Given the description of an element on the screen output the (x, y) to click on. 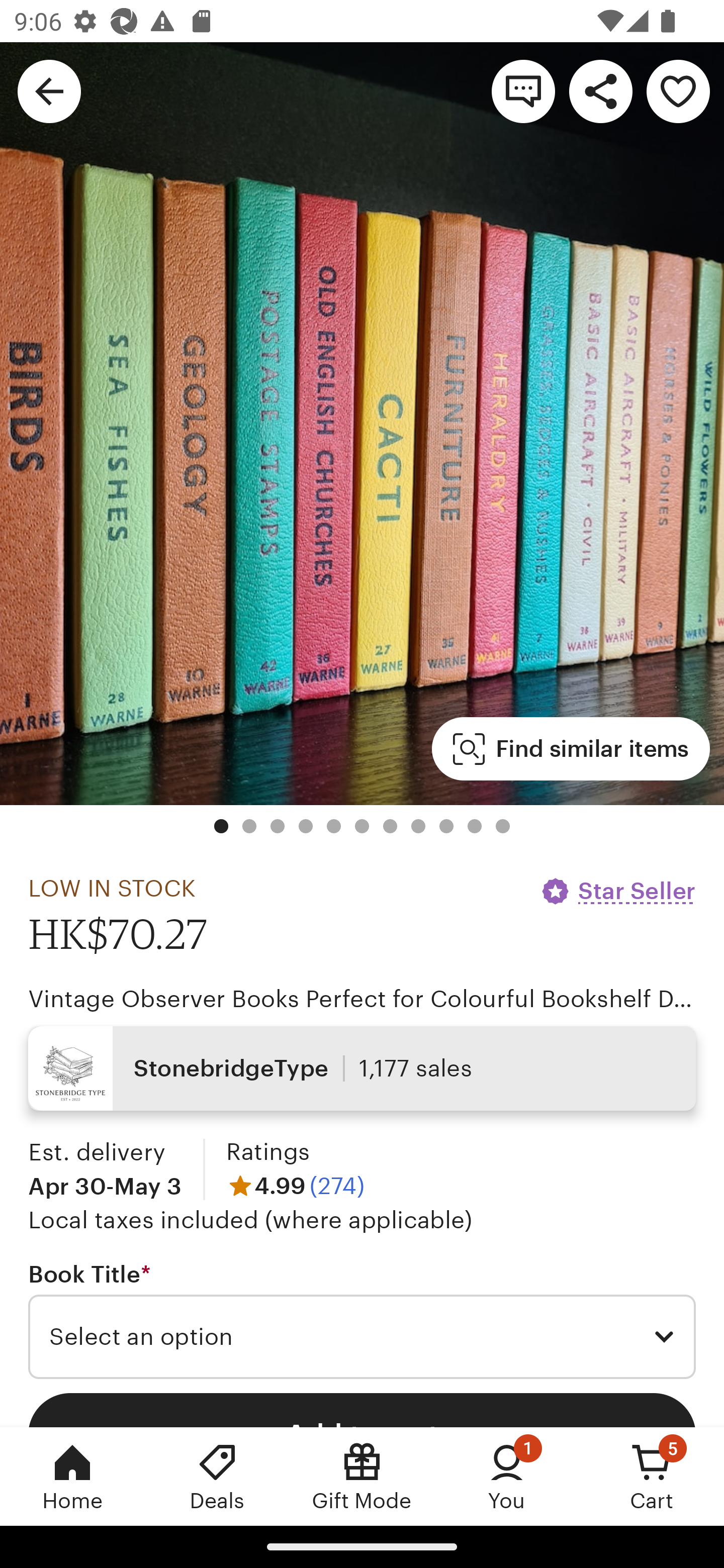
Navigate up (49, 90)
Contact shop (523, 90)
Share (600, 90)
Find similar items (571, 748)
Star Seller (617, 890)
StonebridgeType 1,177 sales (361, 1067)
Ratings (267, 1151)
4.99 (274) (294, 1185)
Book Title * Required Select an option (361, 1319)
Select an option (361, 1336)
Deals (216, 1475)
Gift Mode (361, 1475)
You, 1 new notification You (506, 1475)
Cart, 5 new notifications Cart (651, 1475)
